Given the description of an element on the screen output the (x, y) to click on. 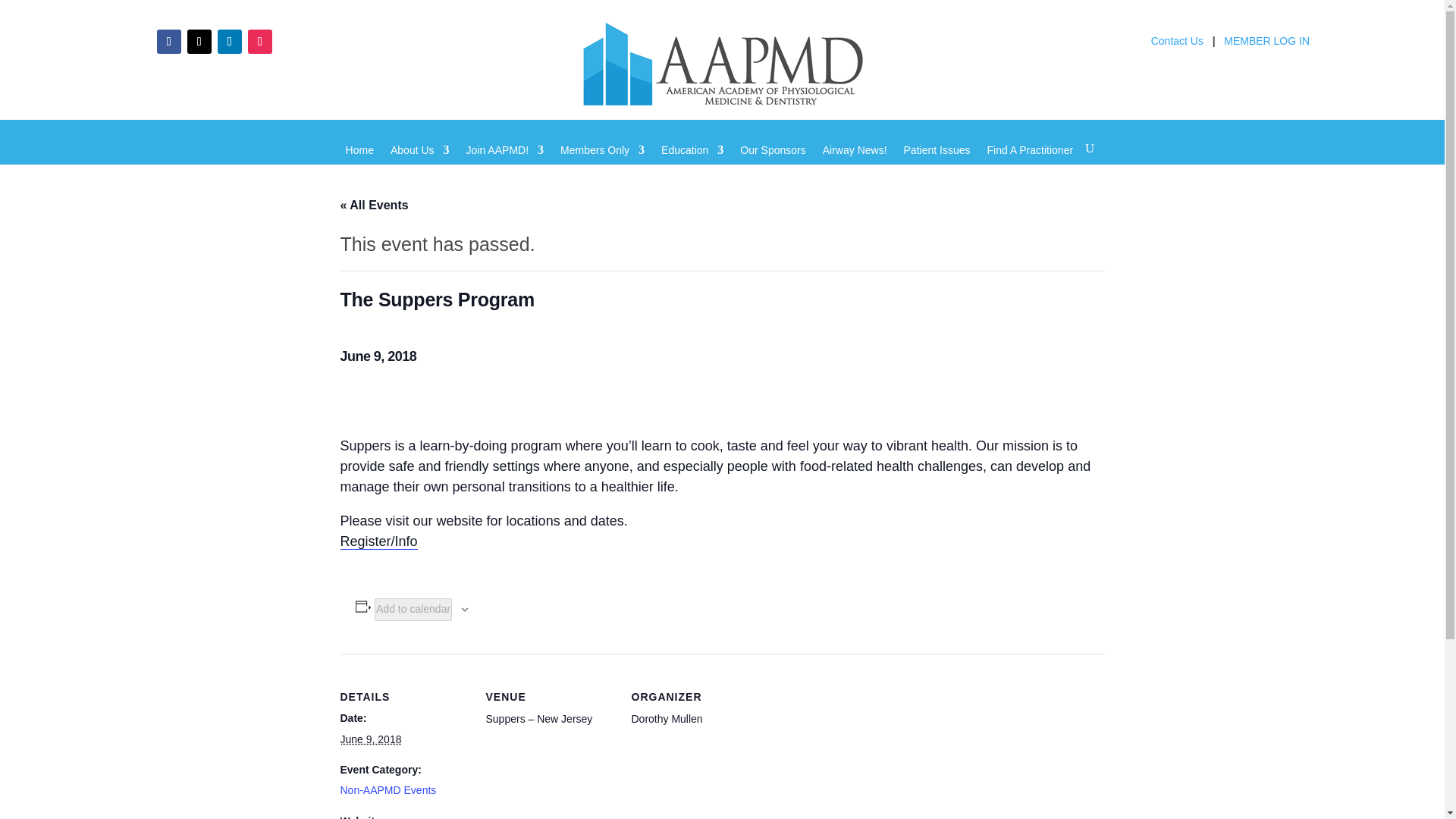
Education (692, 160)
Follow on Facebook (168, 41)
About Us (419, 160)
MEMBER LOG IN (1266, 44)
Follow on Instagram (259, 41)
Members Only (602, 160)
2018-06-09 (370, 739)
Join AAPMD! (504, 160)
Contact Us (1177, 44)
Follow on LinkedIn (228, 41)
Home (360, 160)
Follow on X (199, 41)
